Given the description of an element on the screen output the (x, y) to click on. 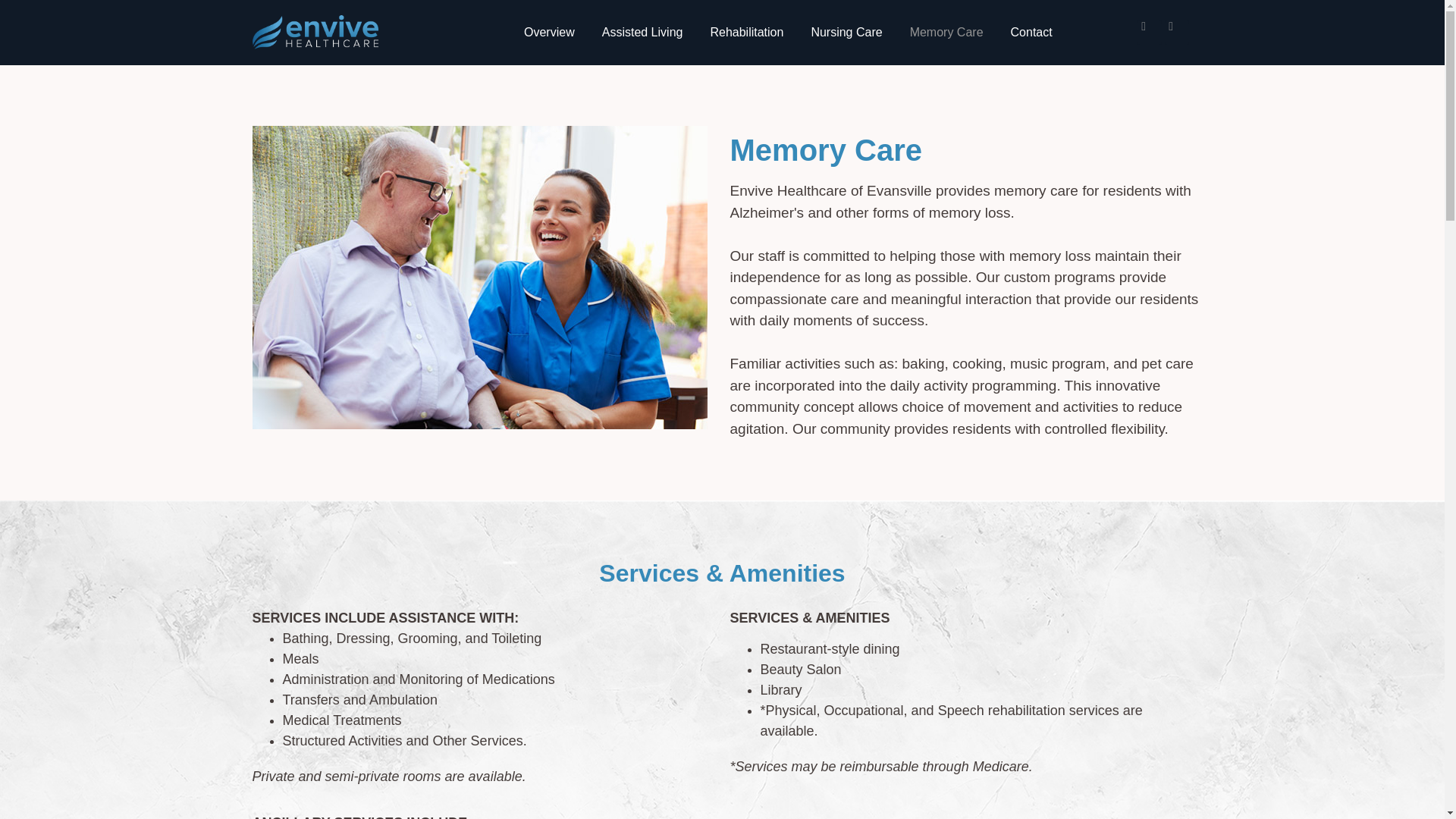
Assisted Living (642, 32)
Overview (549, 32)
Rehabilitation (745, 32)
Nursing Care (845, 32)
Contact (1031, 32)
Memory Care (946, 32)
